Given the description of an element on the screen output the (x, y) to click on. 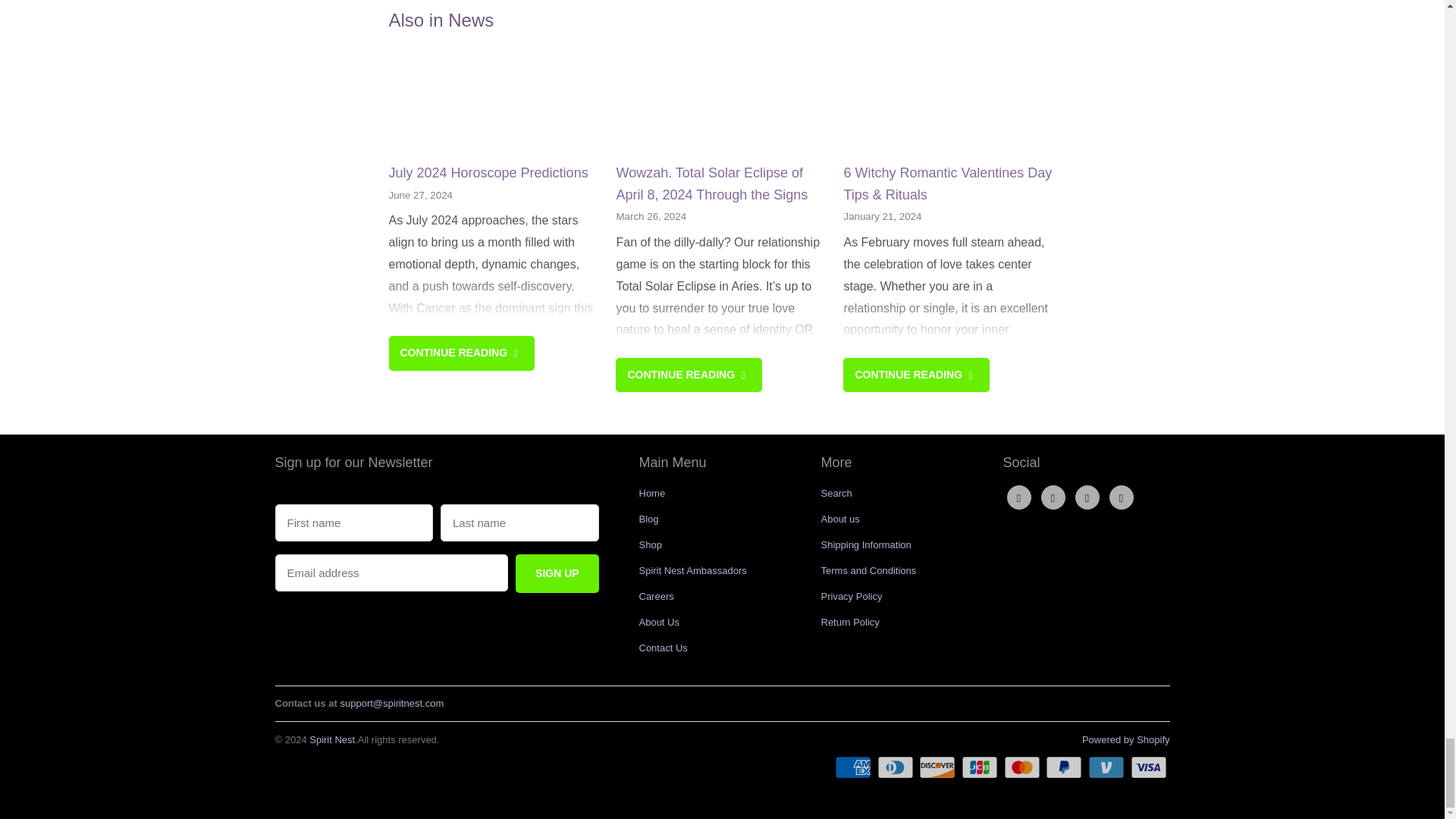
Venmo (1106, 766)
PayPal (1064, 766)
American Express (854, 766)
Sign Up (556, 573)
July 2024 Horoscope Predictions (488, 172)
JCB (980, 766)
Diners Club (897, 766)
Mastercard (1023, 766)
Discover (938, 766)
July 2024 Horoscope Predictions (493, 103)
Visa (1149, 766)
July 2024 Horoscope Predictions (461, 352)
